Given the description of an element on the screen output the (x, y) to click on. 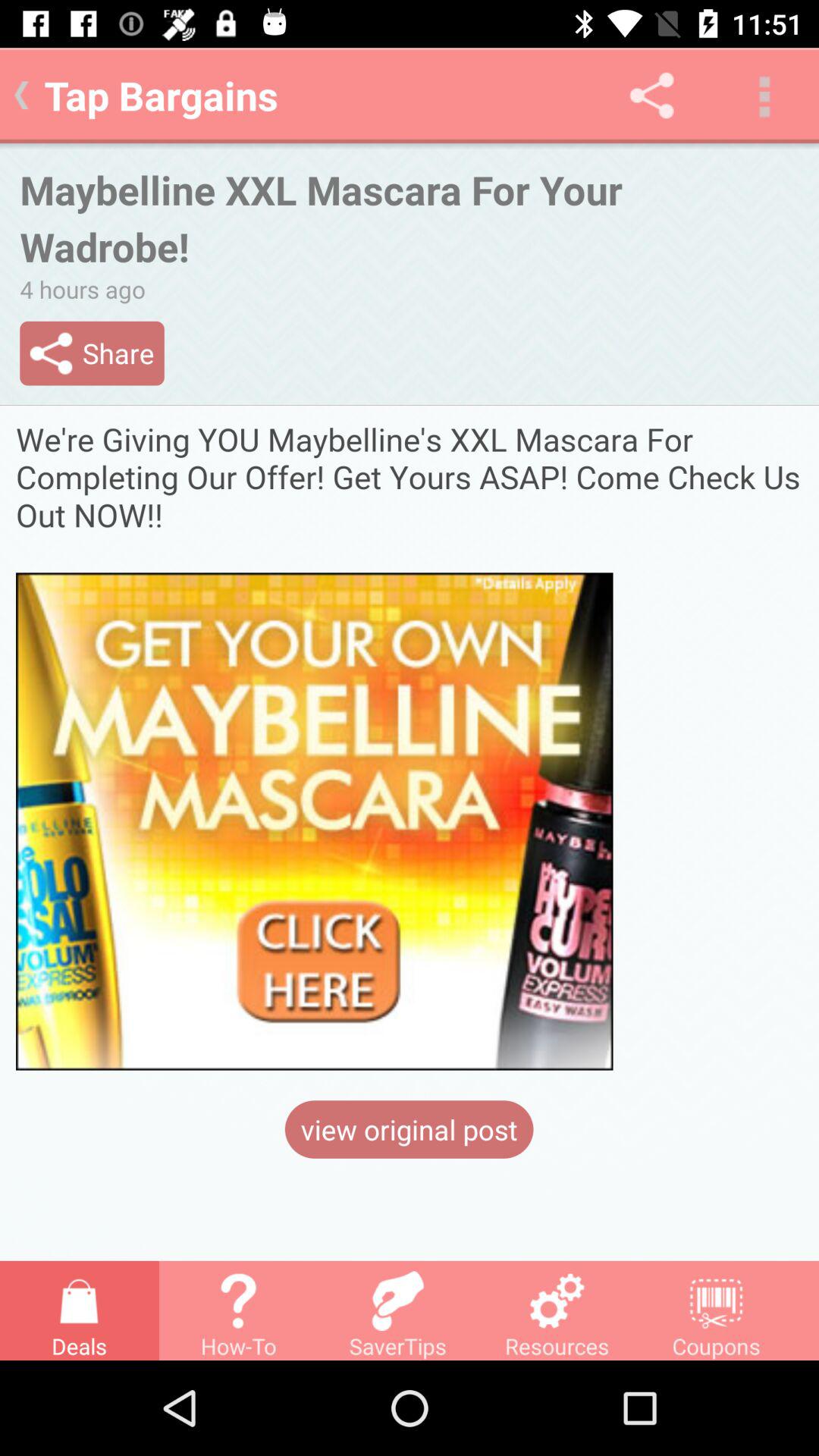
original post (409, 745)
